Given the description of an element on the screen output the (x, y) to click on. 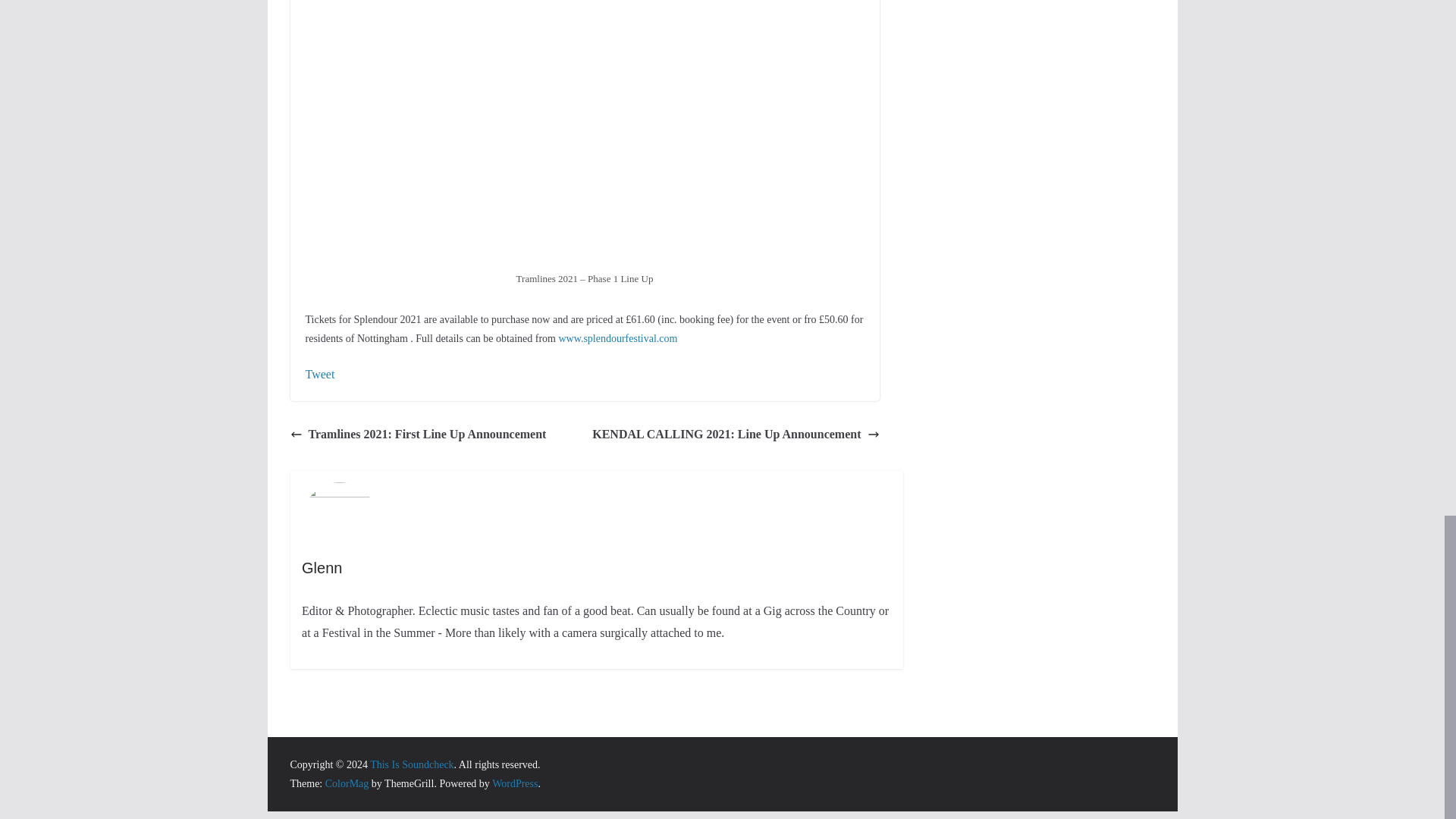
This Is Soundcheck (410, 764)
Tweet (319, 373)
KENDAL CALLING 2021: Line Up Announcement (735, 434)
ColorMag (346, 783)
www.splendourfestival.com (617, 337)
Tramlines 2021: First Line Up Announcement (417, 434)
WordPress (514, 783)
